Given the description of an element on the screen output the (x, y) to click on. 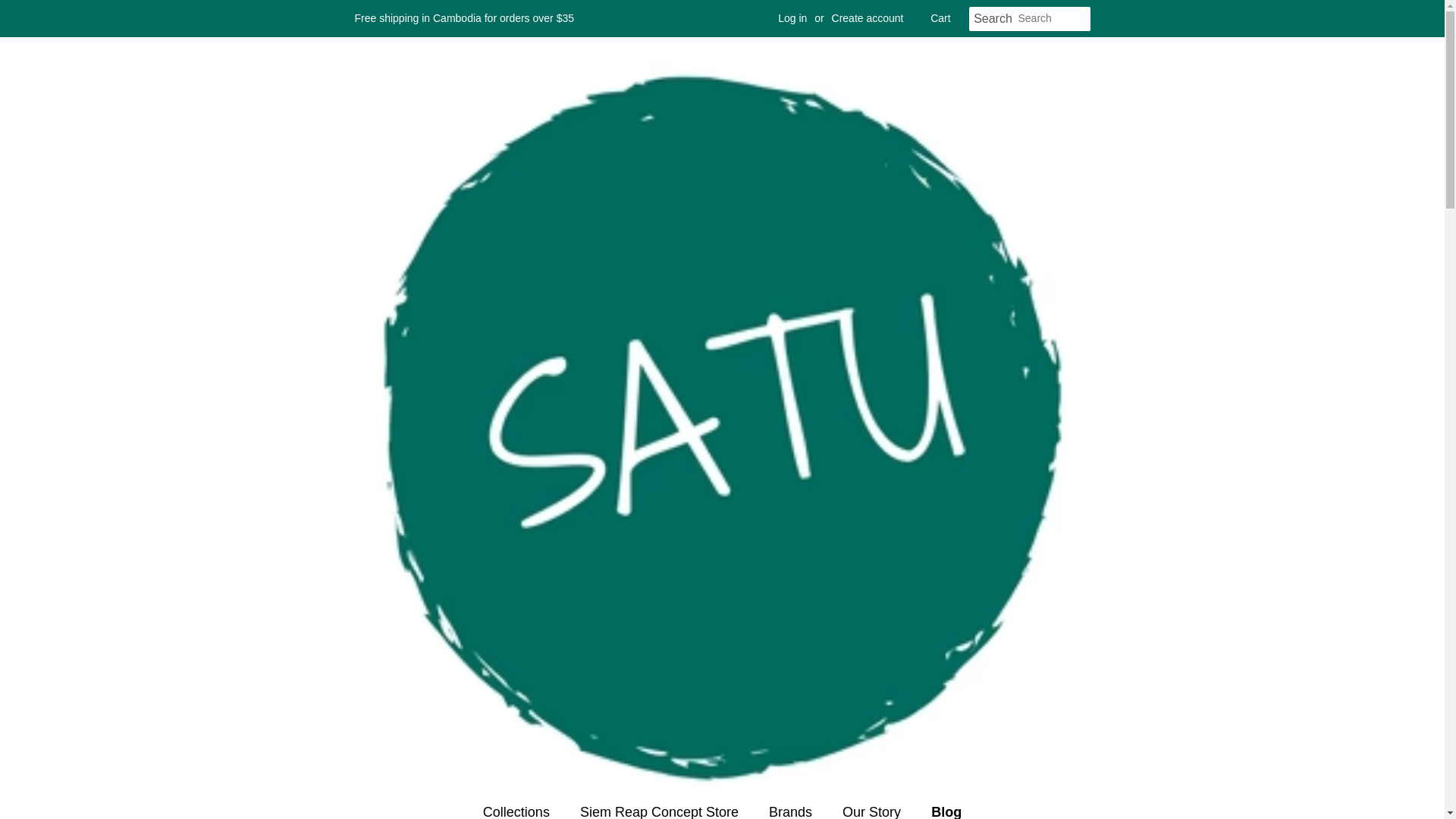
Log in (791, 18)
Search (993, 18)
Cart (940, 18)
Create account (867, 18)
